Given the description of an element on the screen output the (x, y) to click on. 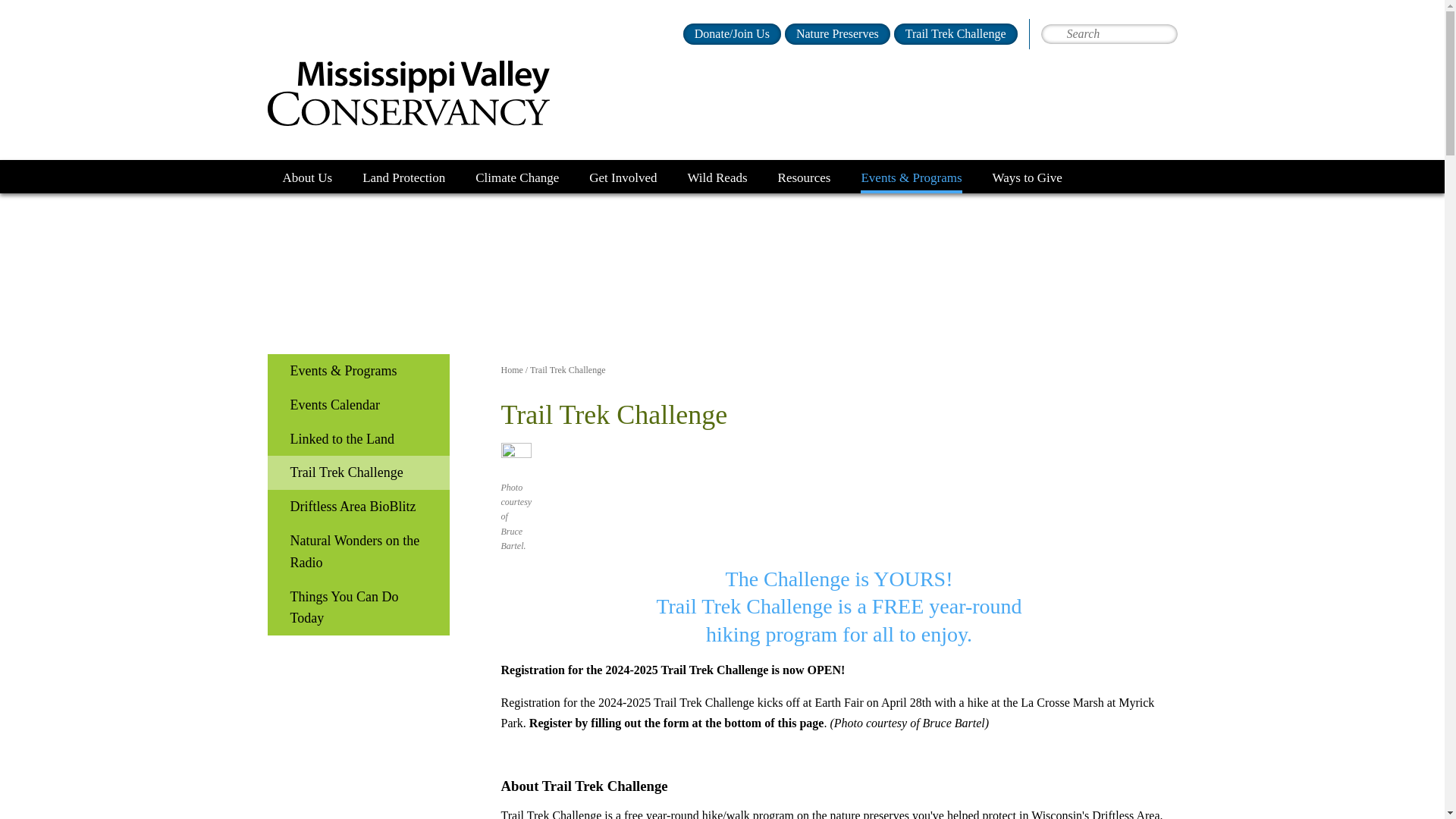
Click and drag to resize (908, 722)
Enter the terms you wish to search for. (1108, 34)
Linked to the Land (357, 439)
Wild Reads (716, 176)
Activities with physical distancing (357, 607)
Search (28, 10)
Nature Preserves (836, 34)
Land Protection (403, 176)
About Us (306, 176)
Climate Change (517, 176)
